Given the description of an element on the screen output the (x, y) to click on. 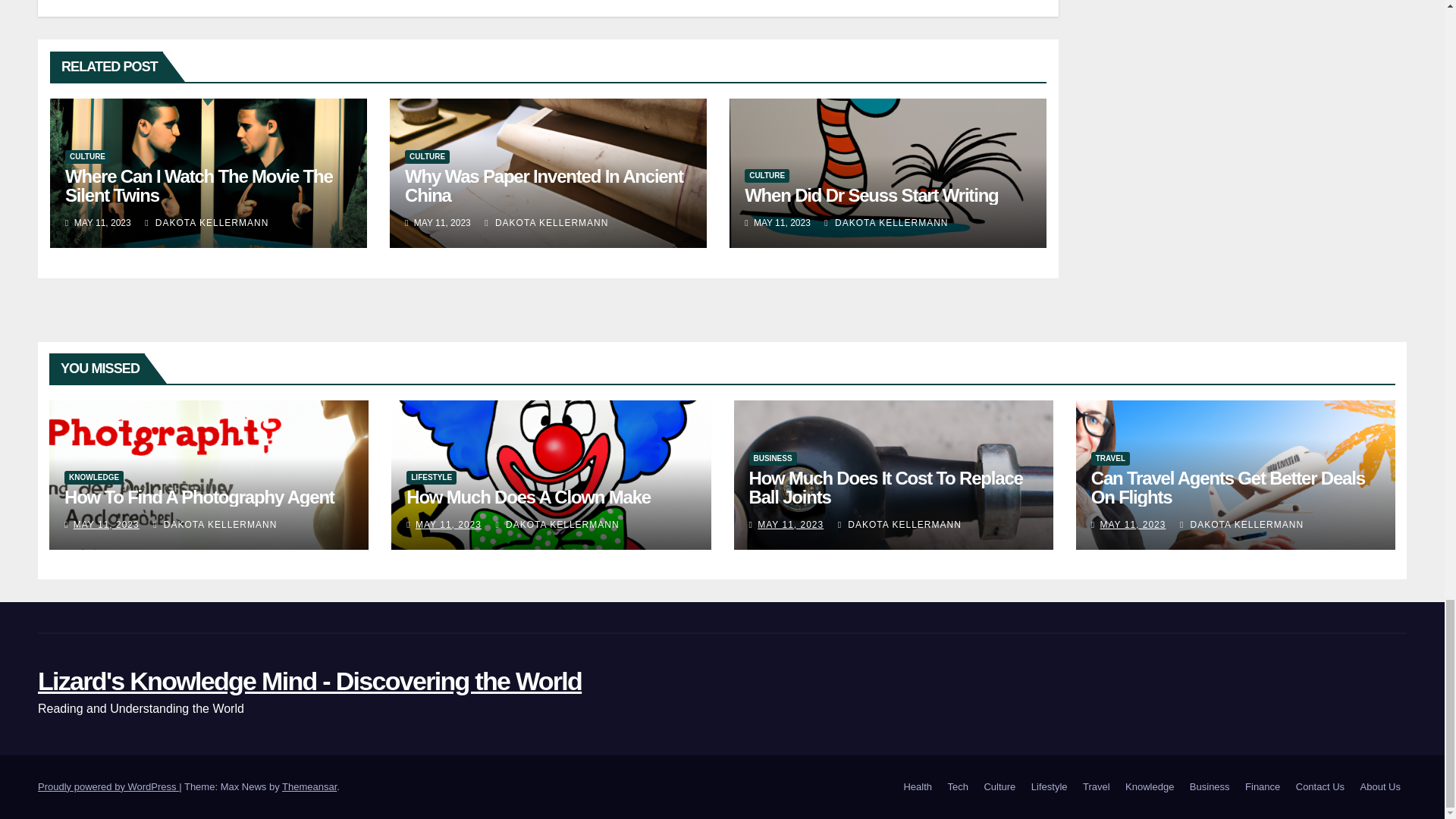
Permalink to: When Did Dr Seuss Start Writing (870, 195)
Permalink to: How Much Does A Clown Make (528, 496)
Permalink to: Can Travel Agents Get Better Deals On Flights (1227, 486)
Tech (958, 786)
Permalink to: Why Was Paper Invented In Ancient China (543, 185)
Permalink to: How Much Does It Cost To Replace Ball Joints (886, 486)
Health (916, 786)
Permalink to: How To Find A Photography Agent (199, 496)
Permalink to: Where Can I Watch The Movie The Silent Twins (199, 185)
